Given the description of an element on the screen output the (x, y) to click on. 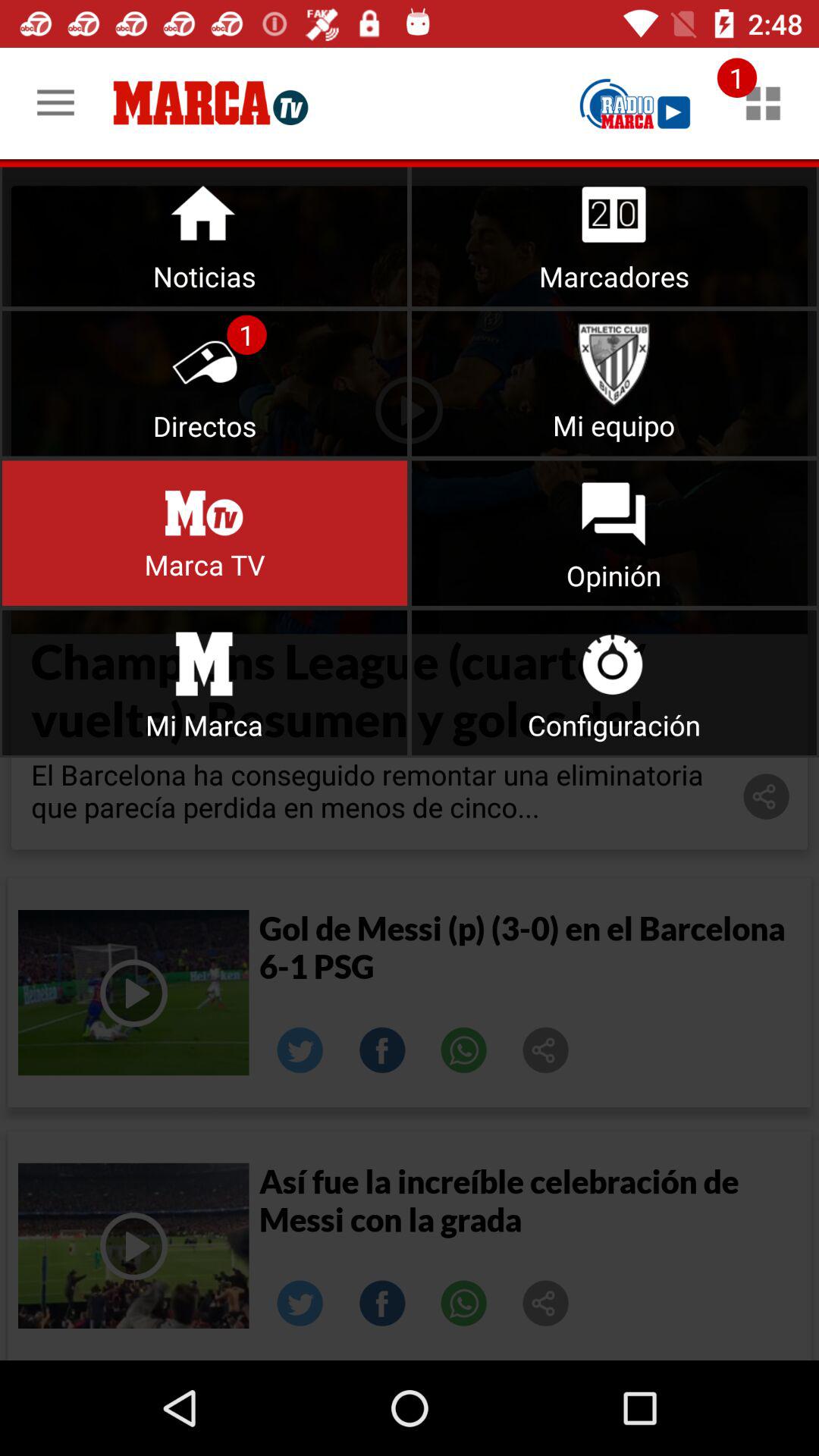
share on twitter (300, 1303)
